Given the description of an element on the screen output the (x, y) to click on. 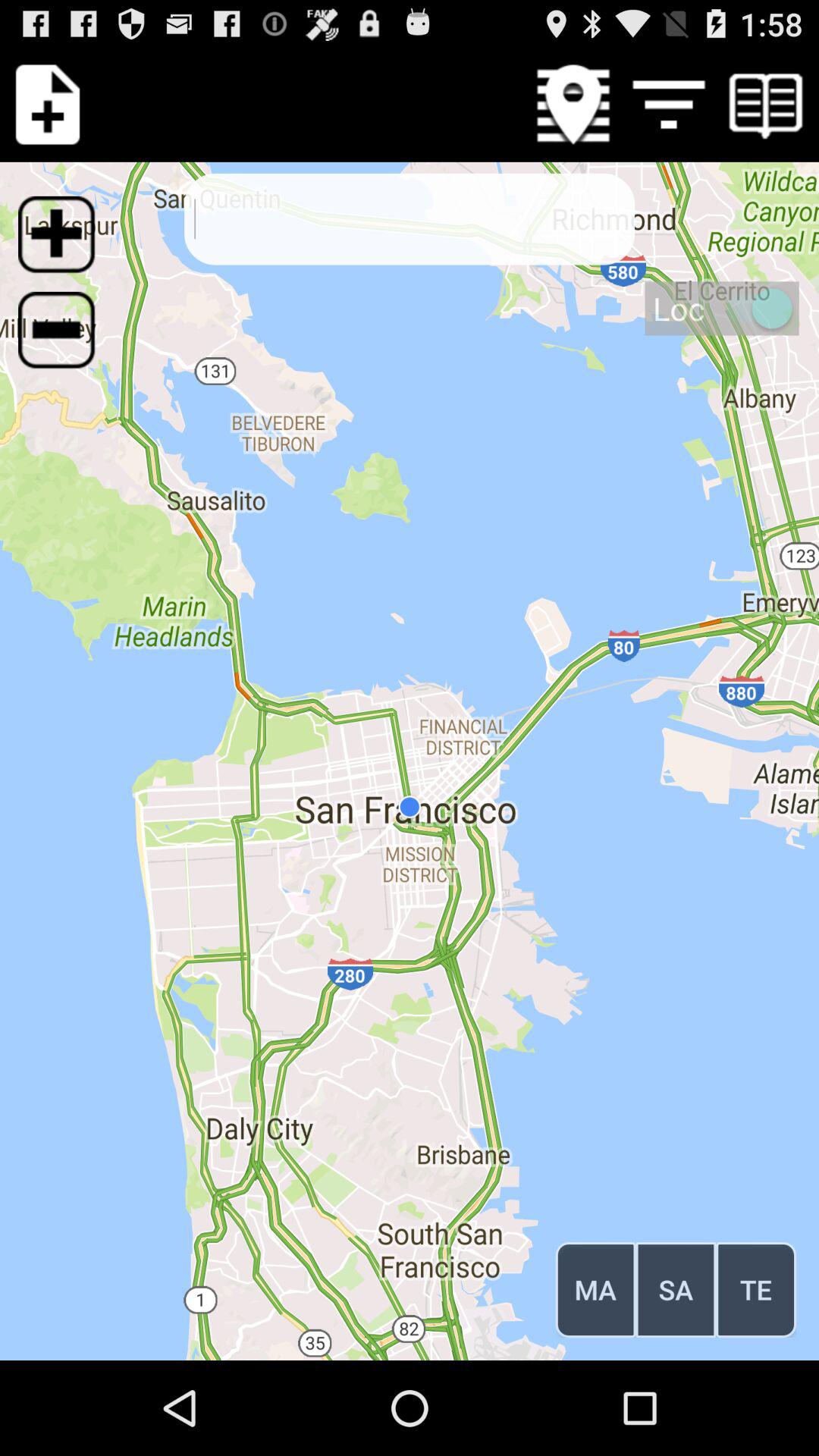
open the icon to the left of  loc (65, 339)
